Given the description of an element on the screen output the (x, y) to click on. 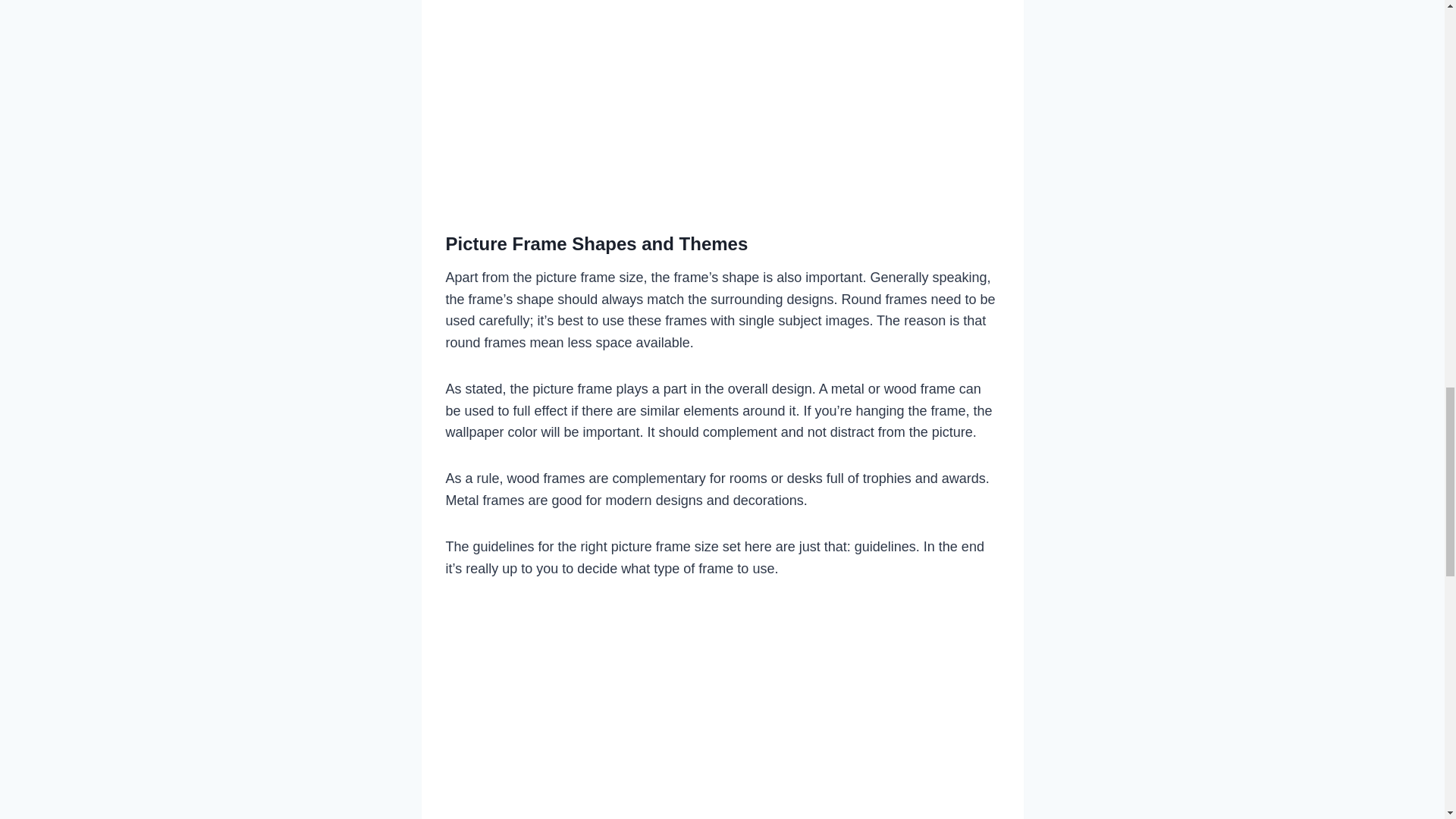
Advertisement (721, 698)
Advertisement (721, 101)
Advertisement (721, 812)
